Given the description of an element on the screen output the (x, y) to click on. 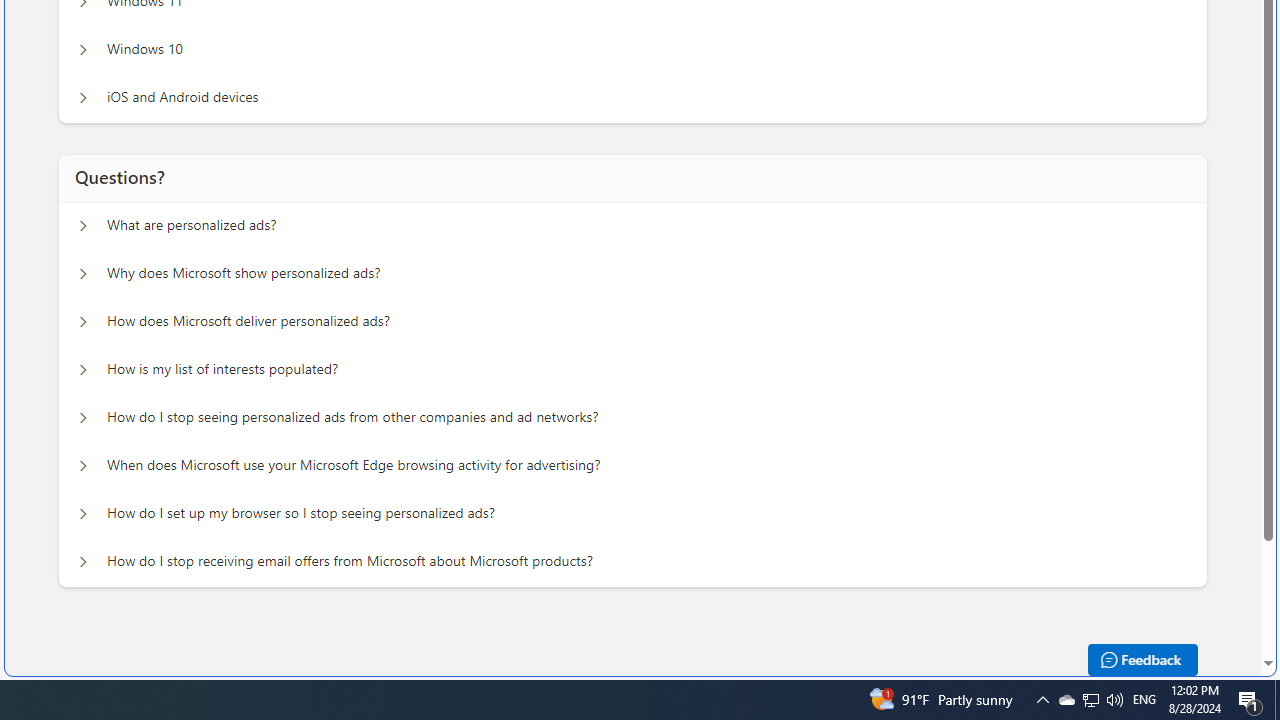
Questions? What are personalized ads? (82, 226)
Questions? How does Microsoft deliver personalized ads? (82, 322)
Manage personalized ads on your device Windows 10 (82, 49)
